Given the description of an element on the screen output the (x, y) to click on. 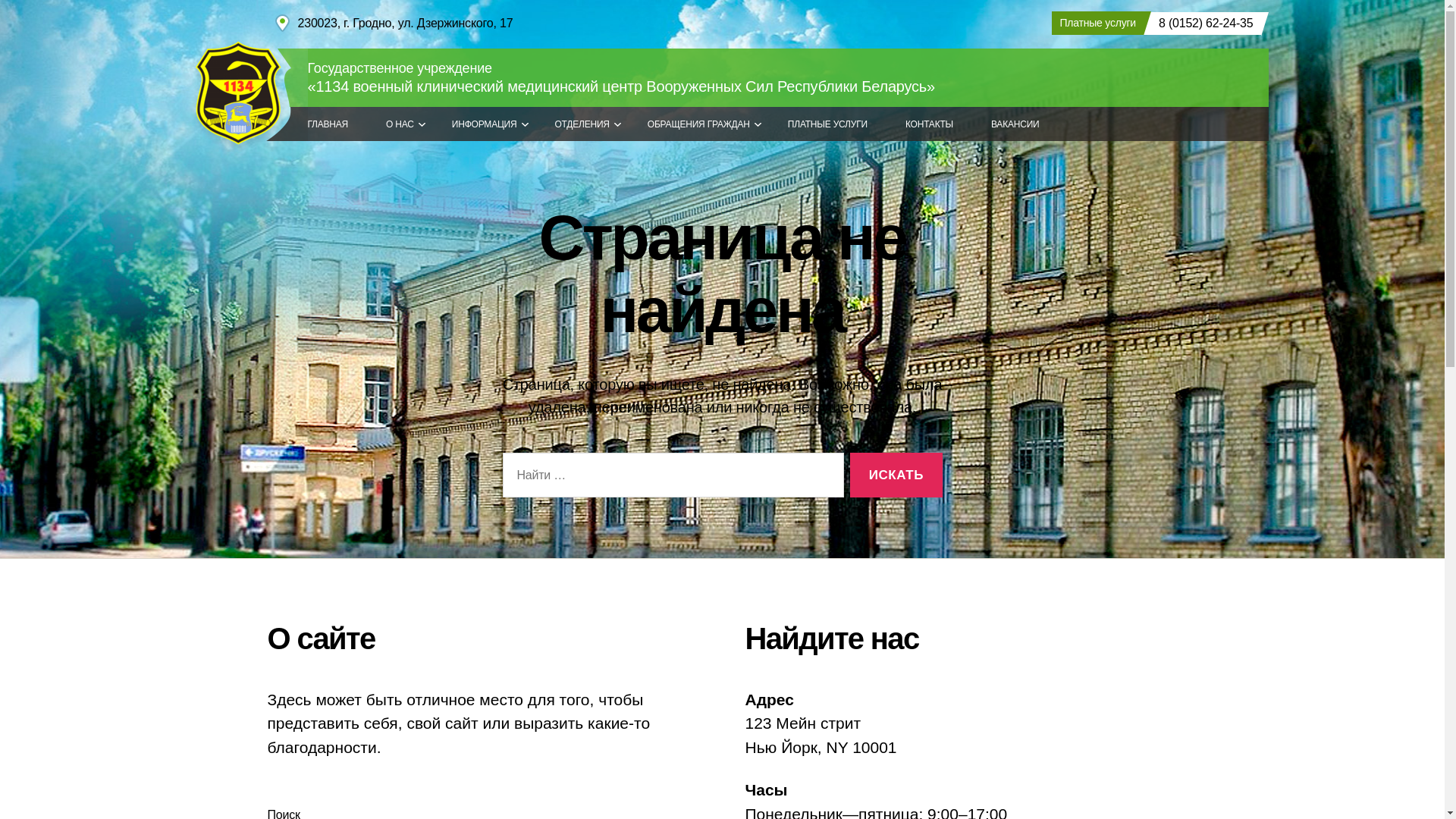
8 (0152) 62-24-35 Element type: text (1202, 23)
